Given the description of an element on the screen output the (x, y) to click on. 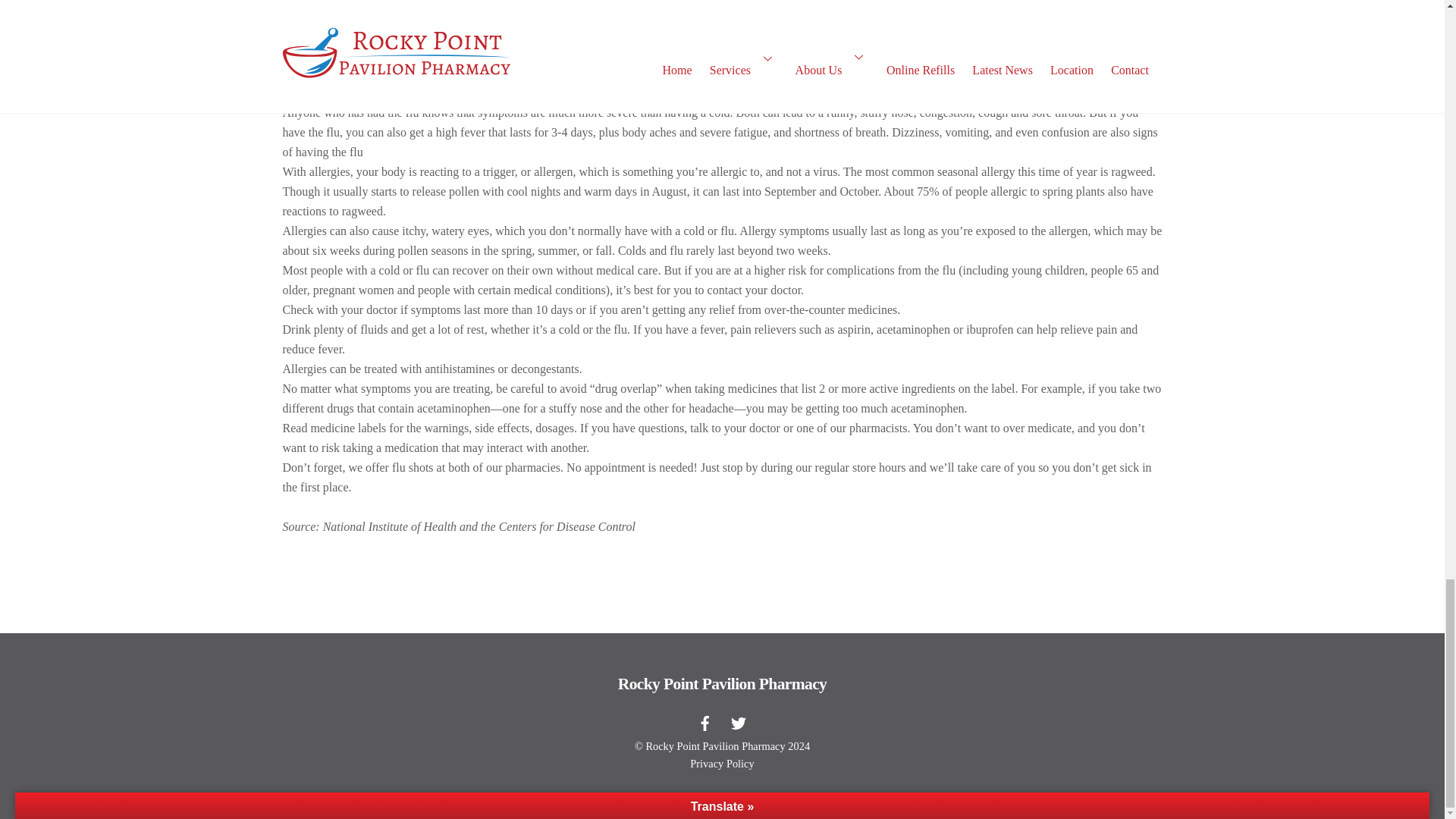
allergy (427, 4)
flu shot (505, 4)
flu (477, 4)
Blog (382, 4)
ROCKY POINT (317, 4)
Rocky Point Pavilion Pharmacy (722, 683)
cold (455, 4)
